Given the description of an element on the screen output the (x, y) to click on. 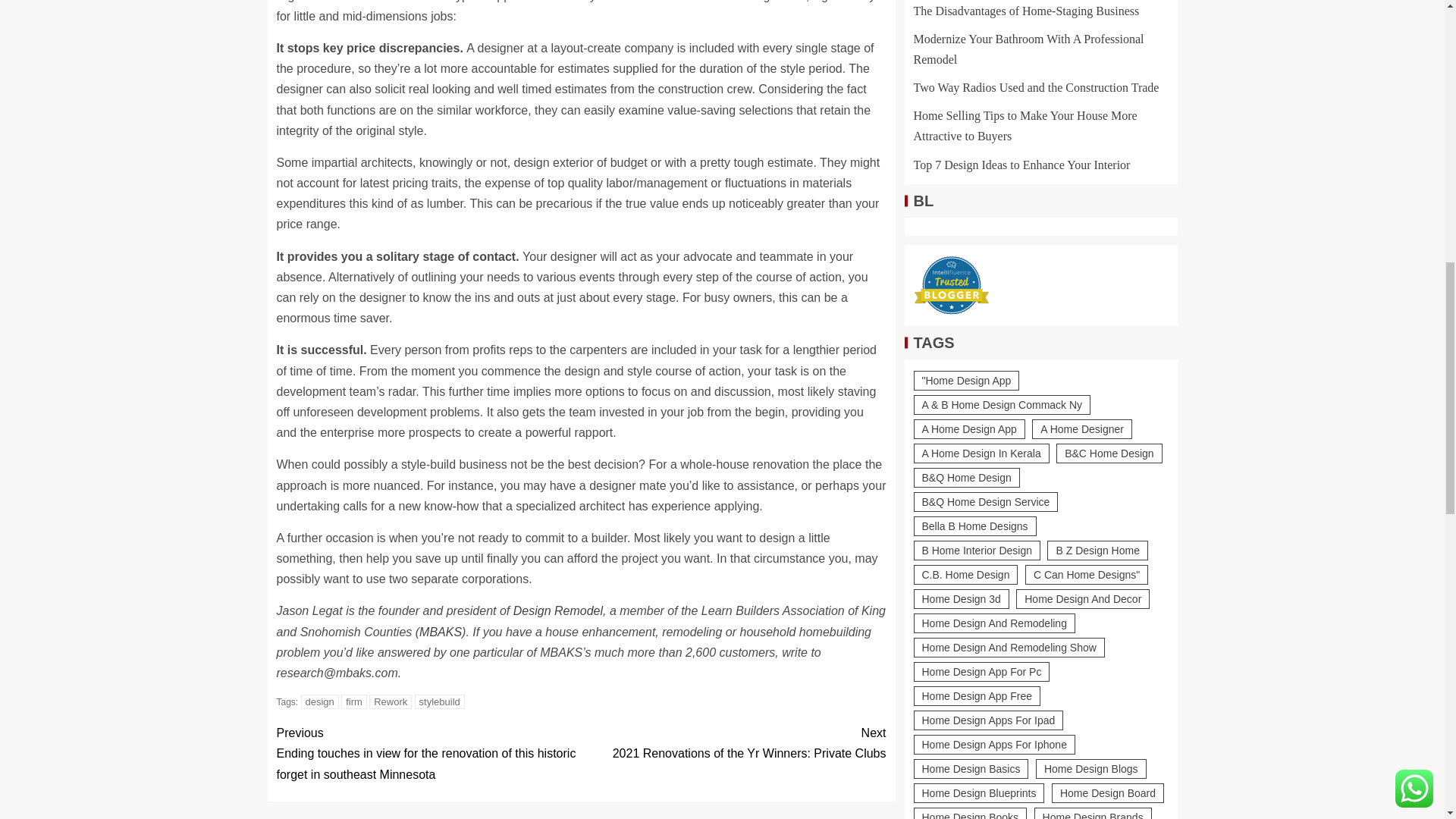
firm (353, 701)
design (320, 701)
MBAKS (440, 631)
Rework (390, 701)
Design Remodel (732, 742)
stylebuild (557, 610)
